Given the description of an element on the screen output the (x, y) to click on. 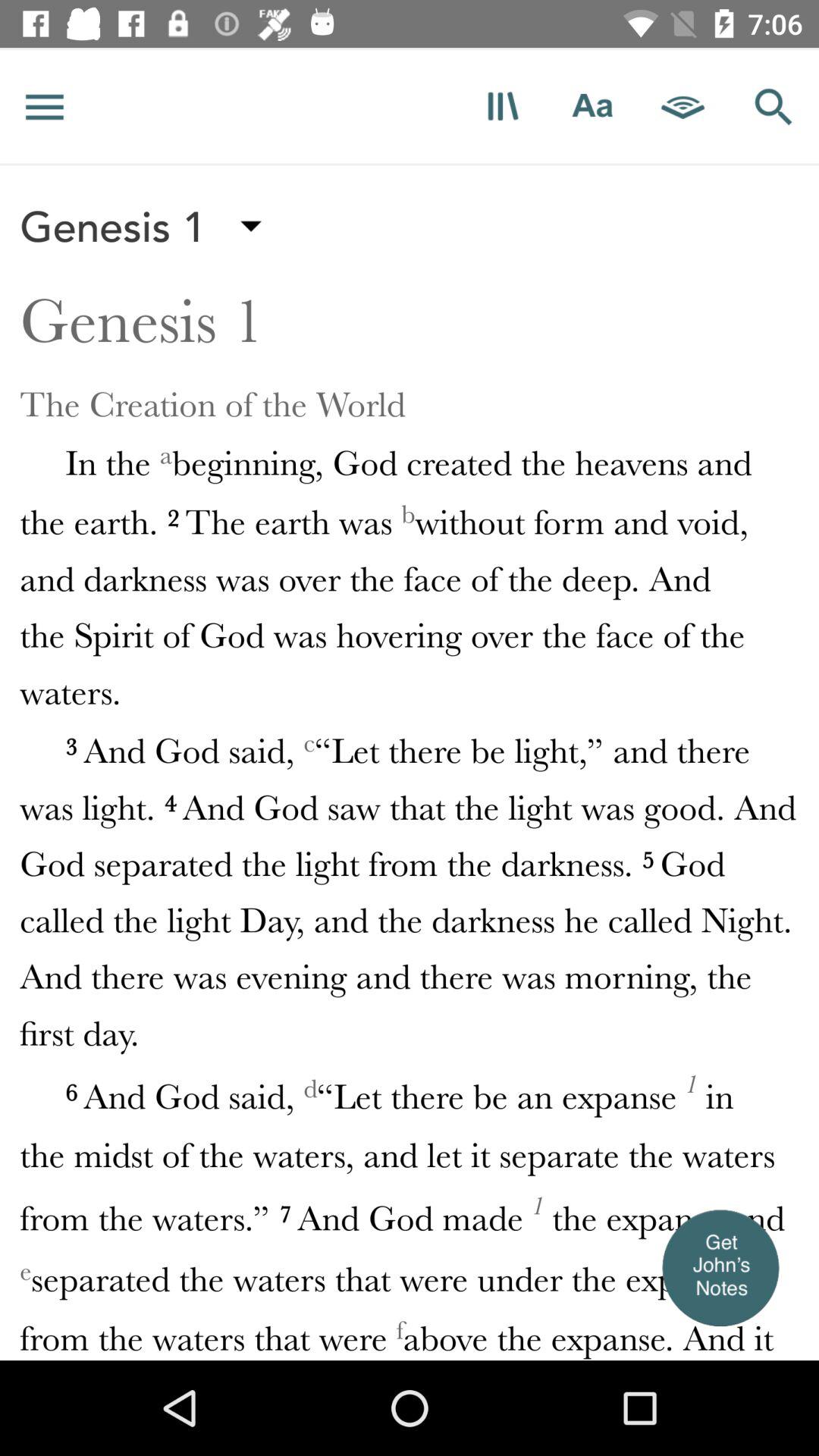
access menu (45, 106)
